Given the description of an element on the screen output the (x, y) to click on. 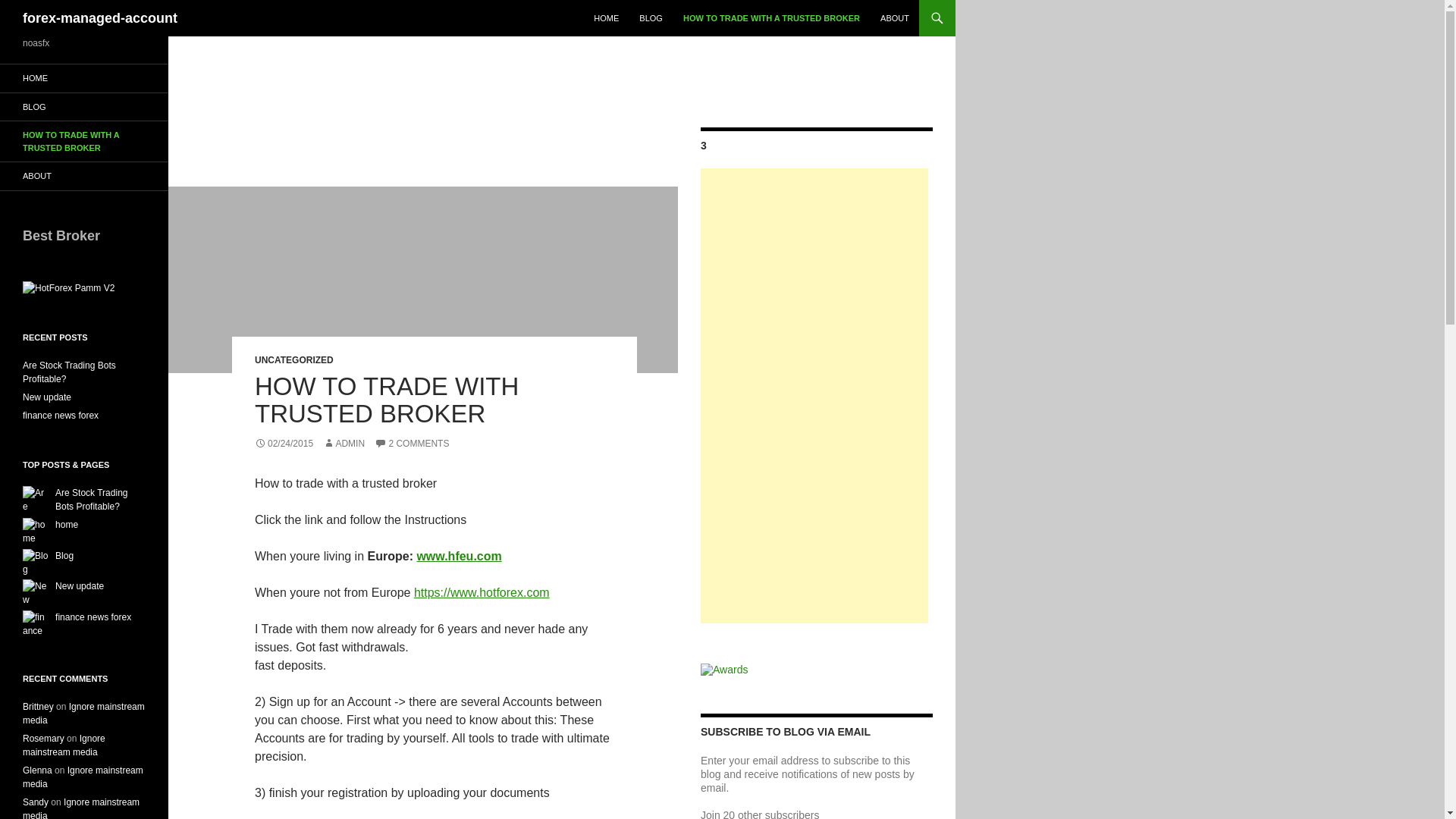
home (66, 524)
BLOG (84, 106)
Are Stock Trading Bots Profitable? (91, 499)
HOME (84, 78)
HOW TO TRADE WITH A TRUSTED BROKER (771, 18)
finance news forex (61, 415)
ABOUT (84, 176)
HotForex Pamm V2 (69, 287)
Are Stock Trading Bots Profitable? (91, 499)
ABOUT (894, 18)
